Given the description of an element on the screen output the (x, y) to click on. 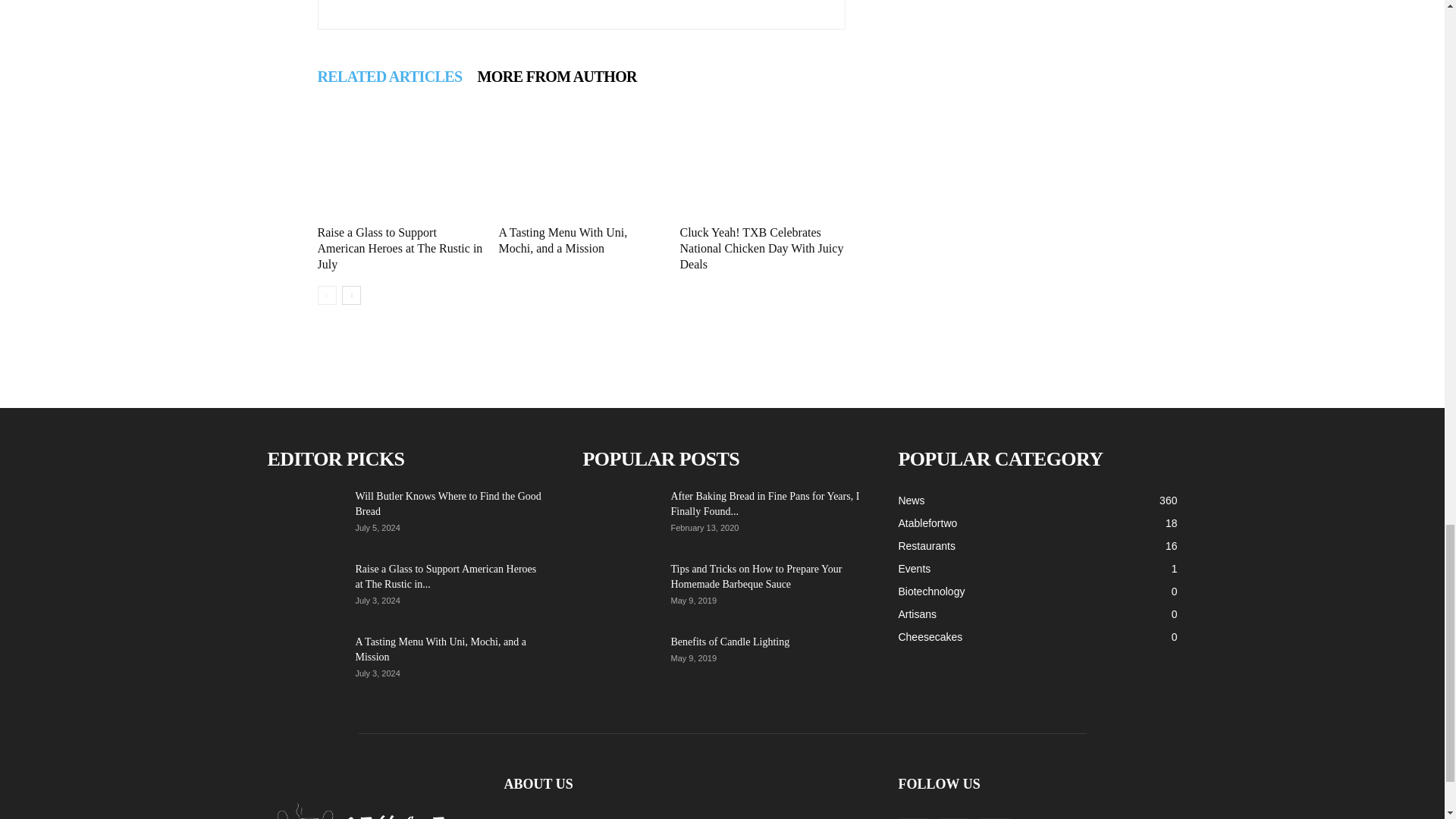
A Tasting Menu With Uni, Mochi, and a Mission (580, 163)
Will Butler Knows Where to Find the Good Bread (447, 503)
A Tasting Menu With Uni, Mochi, and a Mission (562, 240)
Will Butler Knows Where to Find the Good Bread (304, 515)
